Given the description of an element on the screen output the (x, y) to click on. 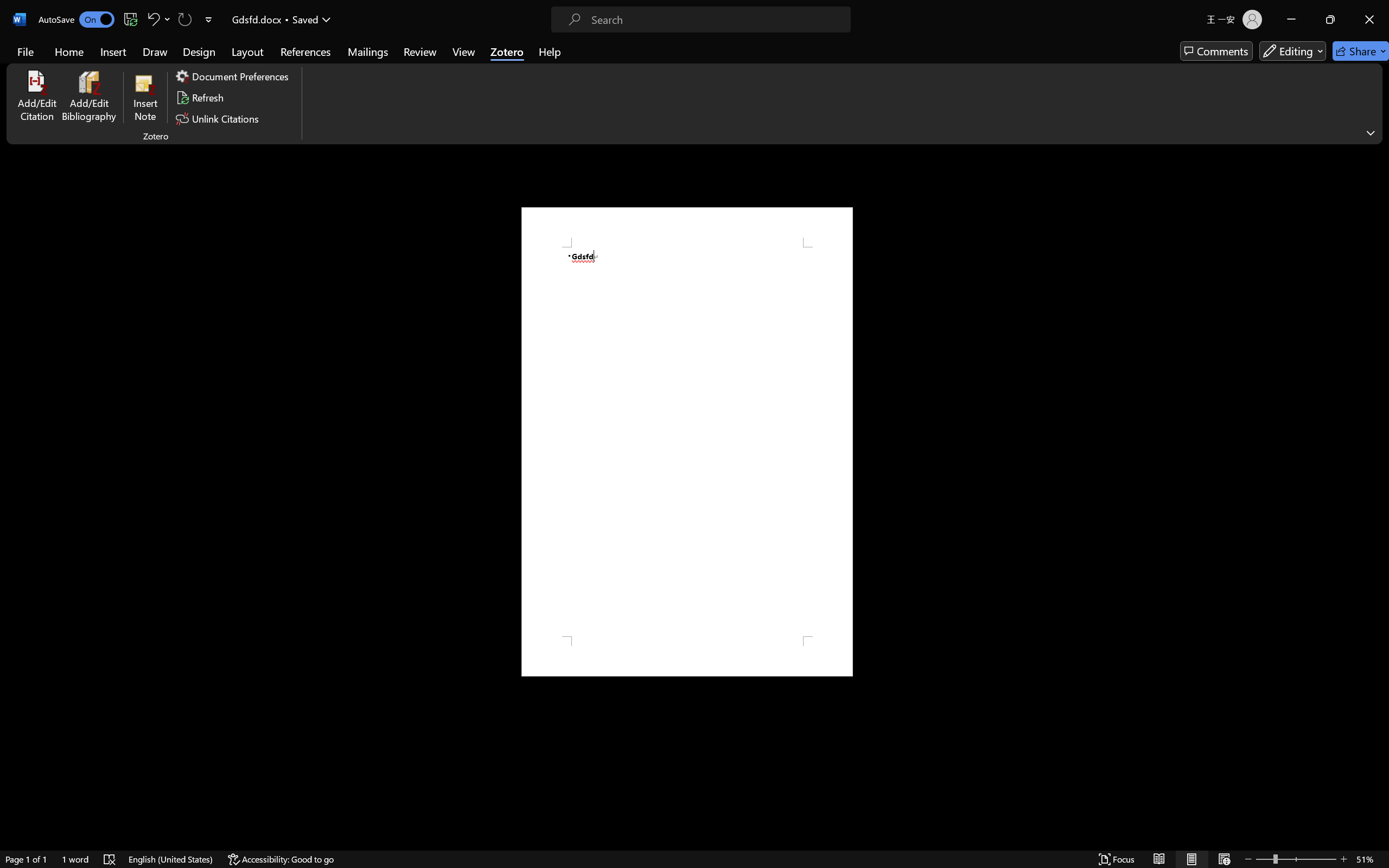
Page 1 content (686, 441)
